Given the description of an element on the screen output the (x, y) to click on. 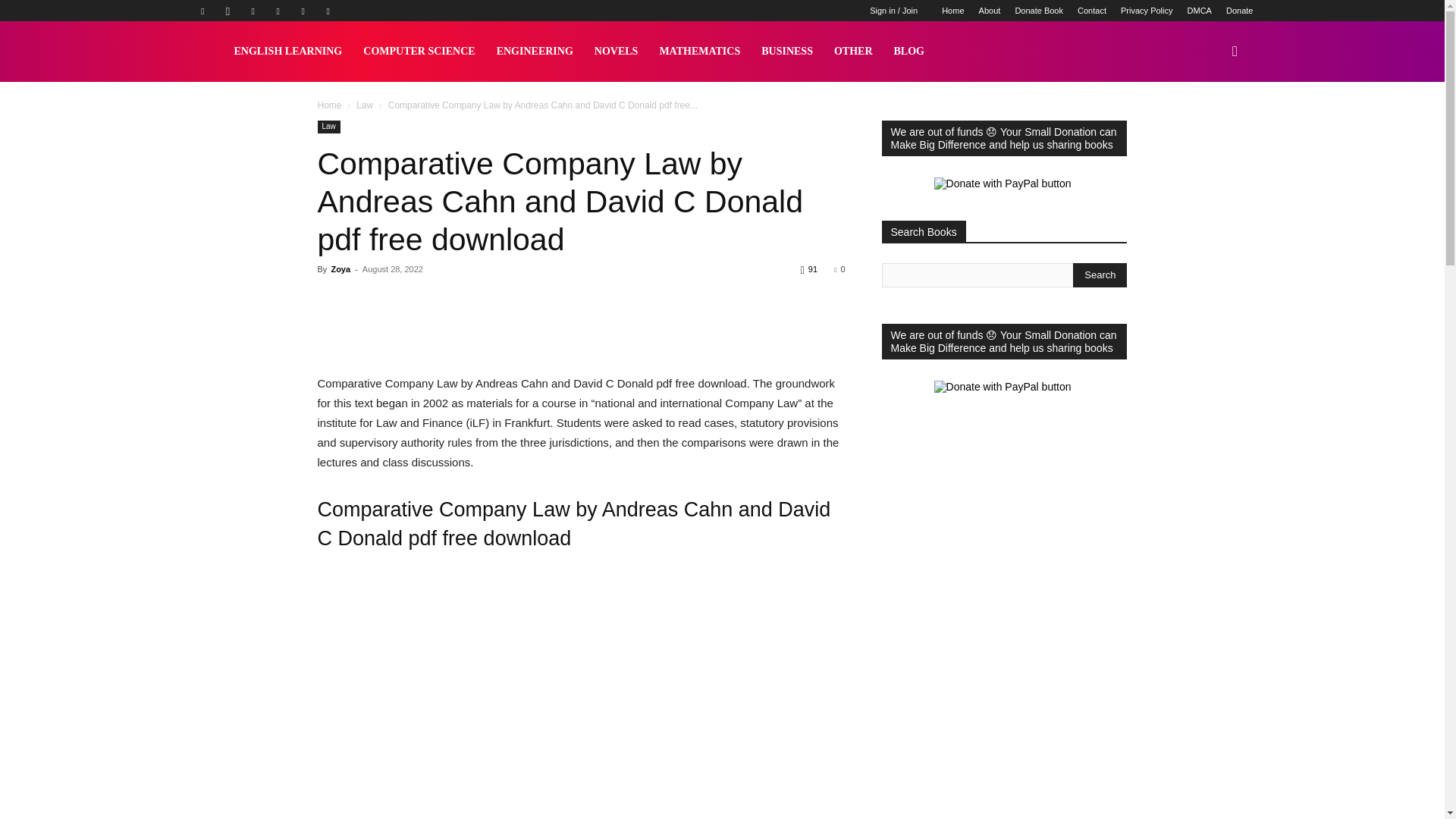
Pinterest (277, 10)
Search (1099, 274)
Twitter (303, 10)
Instagram (228, 10)
Youtube (328, 10)
Paypal (252, 10)
Facebook (202, 10)
